Given the description of an element on the screen output the (x, y) to click on. 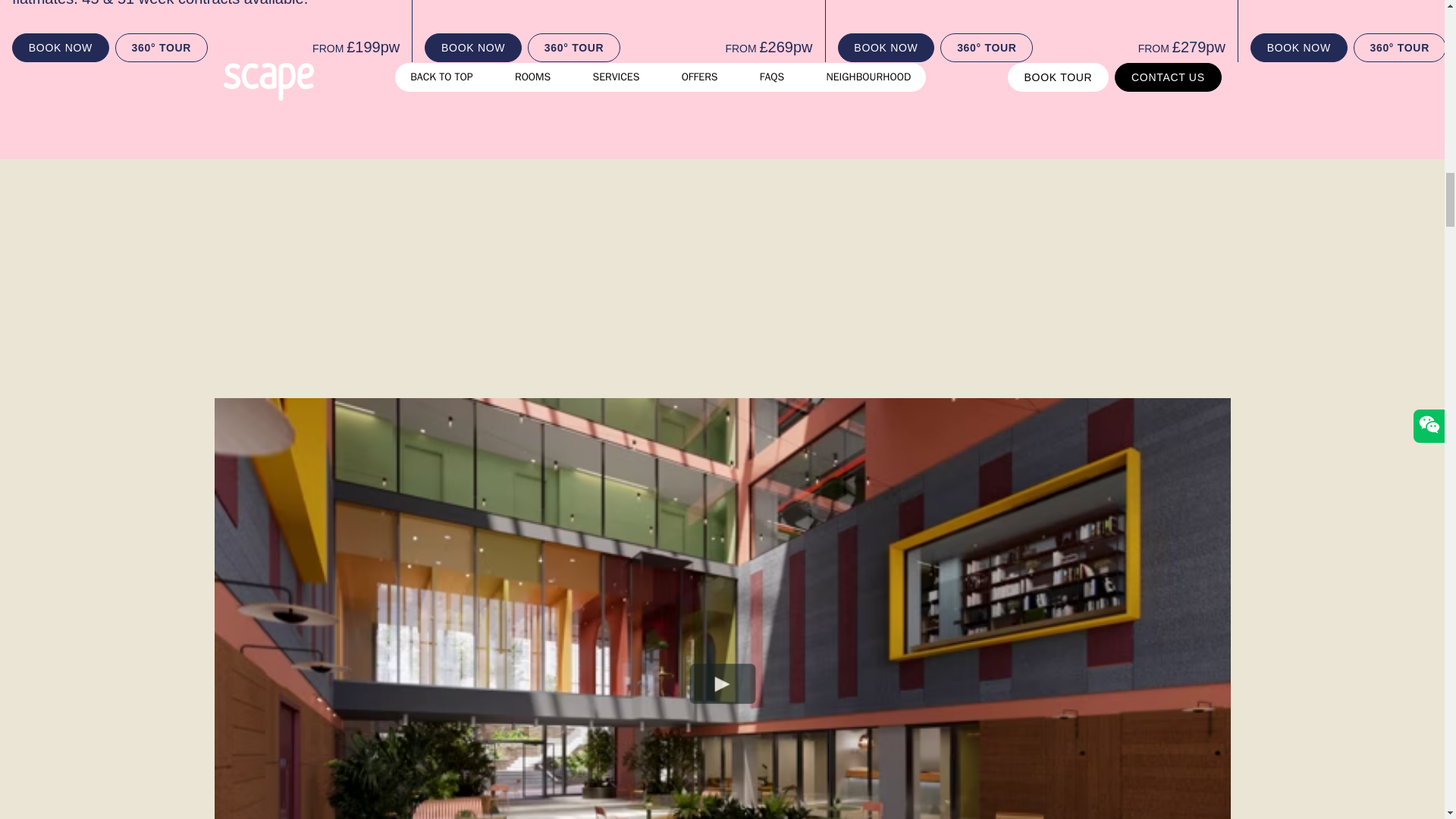
BOOK NOW (60, 47)
BOOK NOW (886, 47)
BOOK NOW (473, 47)
BOOK NOW (1299, 47)
